Given the description of an element on the screen output the (x, y) to click on. 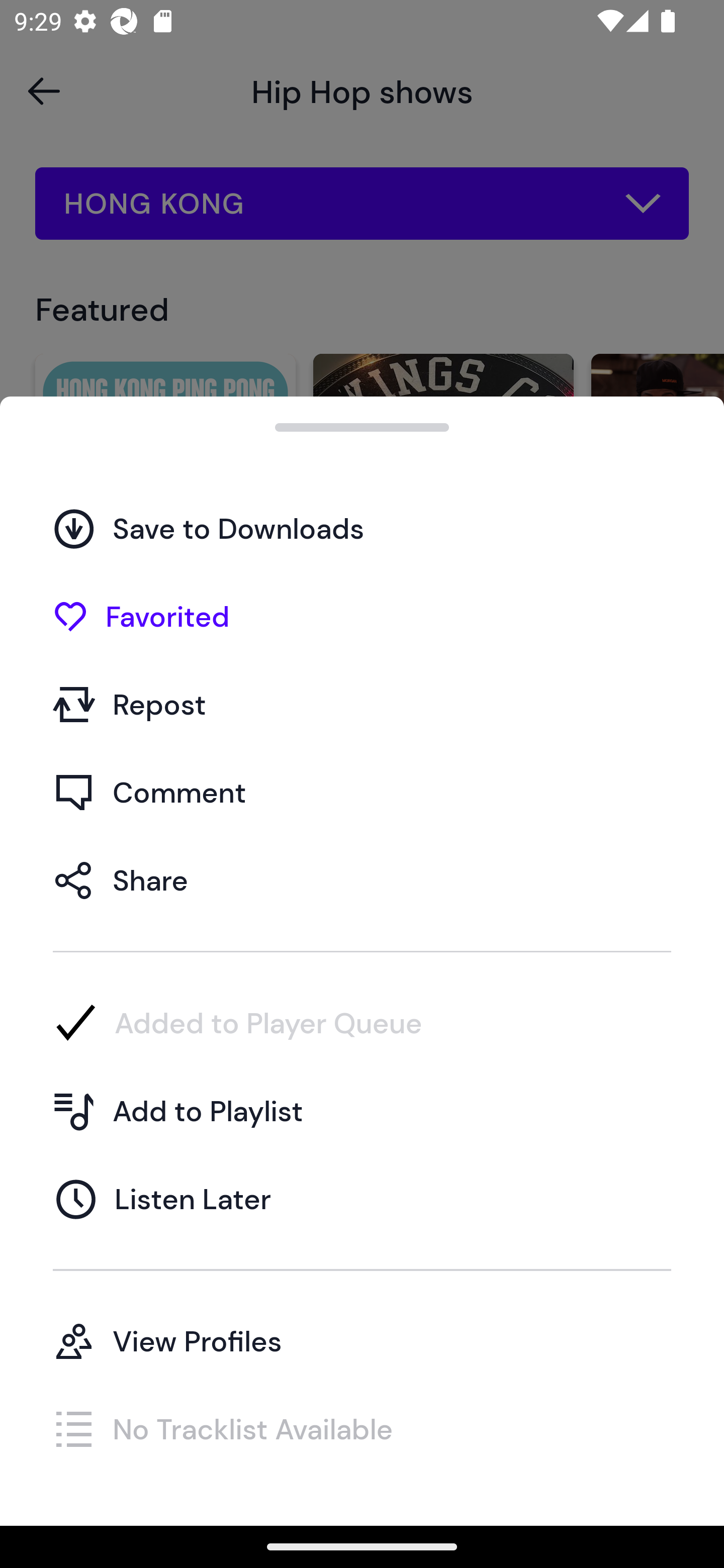
Save to Downloads (361, 528)
Favorited (361, 616)
Repost (361, 703)
Comment (361, 791)
Share (361, 879)
Add to Playlist (361, 1110)
Listen Later (361, 1199)
View Profiles (361, 1340)
No Tracklist Available (361, 1428)
